Given the description of an element on the screen output the (x, y) to click on. 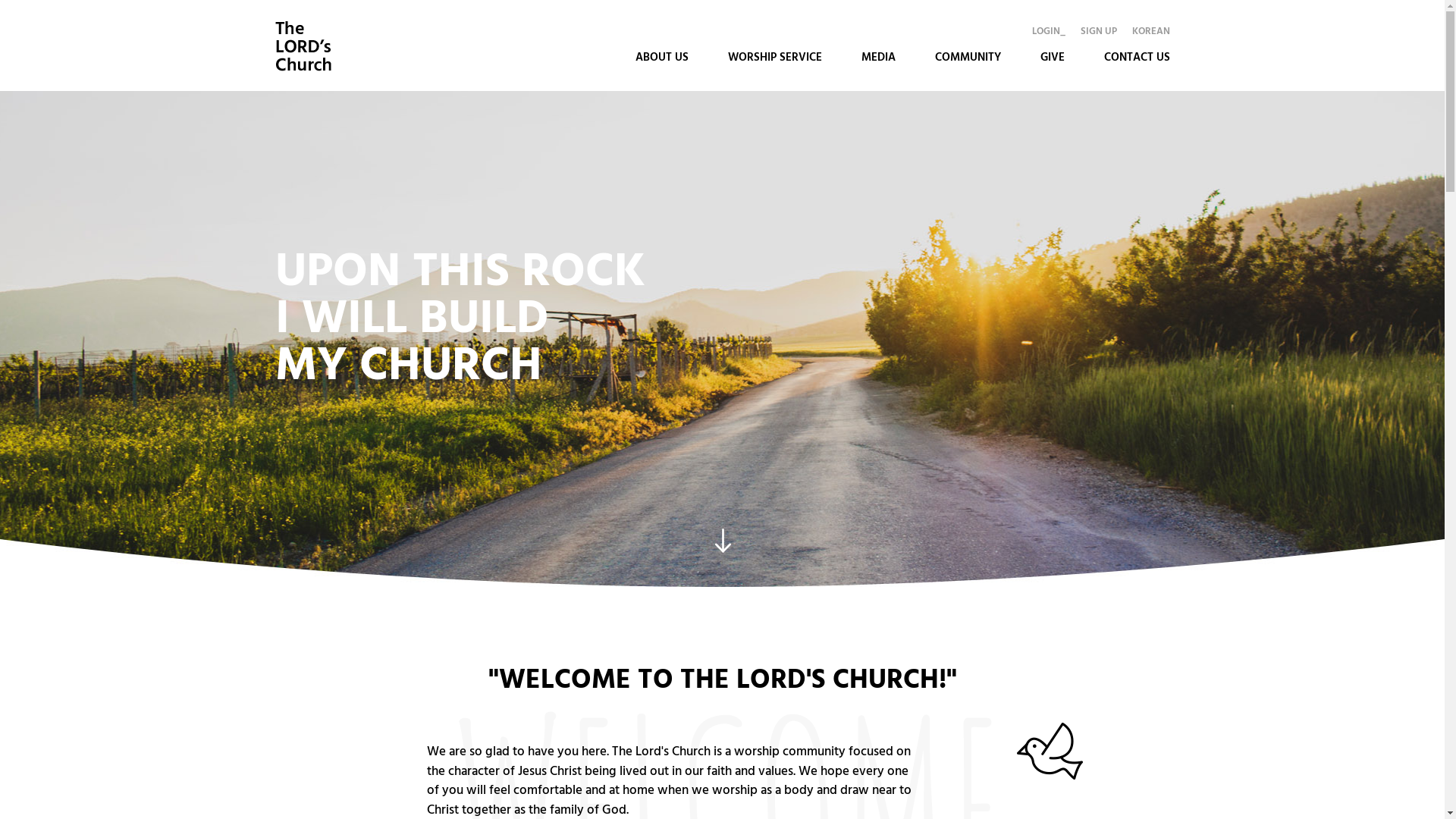
KOREAN Element type: text (1150, 31)
CONTACT US Element type: text (1136, 45)
MEDIA Element type: text (878, 45)
GIVE Element type: text (1052, 45)
ABOUT US Element type: text (661, 45)
SIGN UP Element type: text (1097, 31)
WORSHIP SERVICE Element type: text (774, 45)
LOGIN_ Element type: text (1047, 31)
COMMUNITY Element type: text (966, 45)
